Given the description of an element on the screen output the (x, y) to click on. 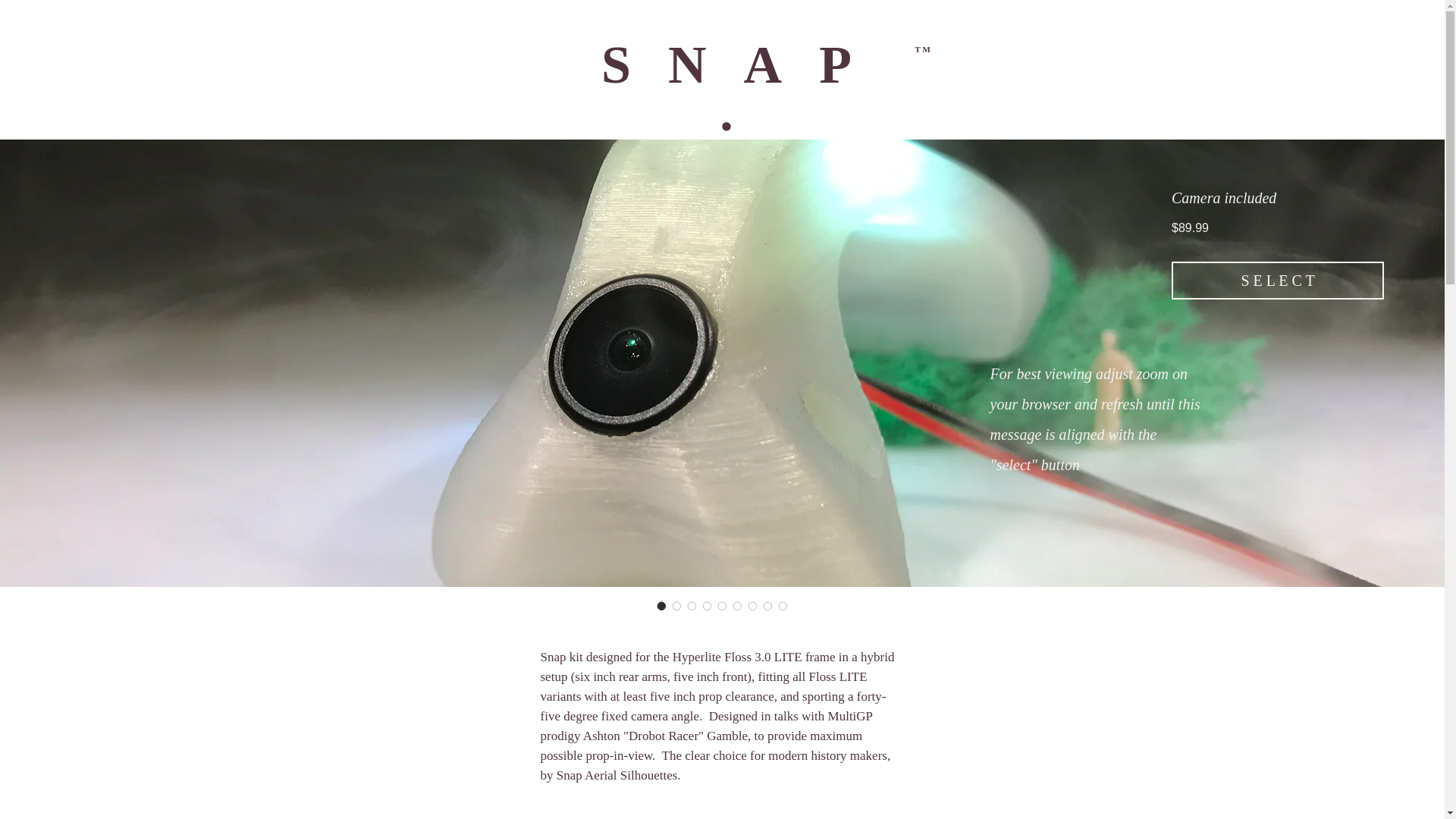
S E L E C T (1278, 280)
S (634, 65)
